Given the description of an element on the screen output the (x, y) to click on. 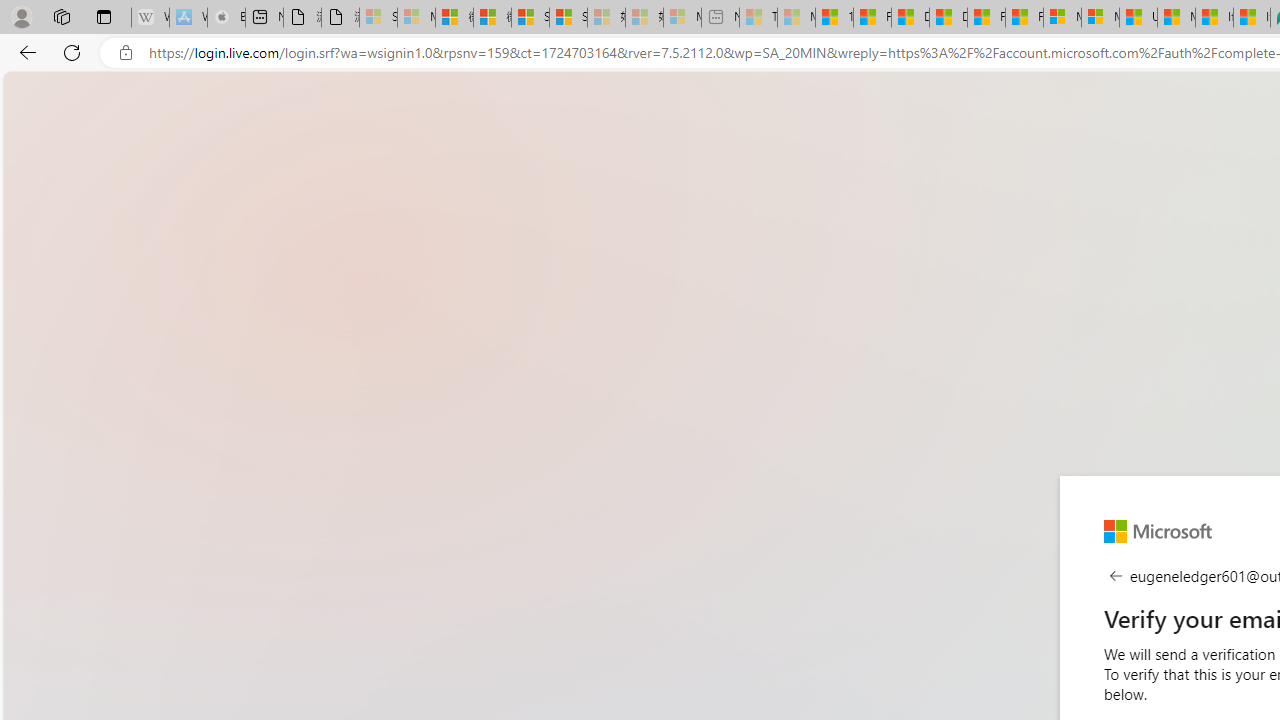
Buy iPad - Apple - Sleeping (225, 17)
Foo BAR | Trusted Community Engagement and Contributions (1024, 17)
Microsoft account | Account Checkup - Sleeping (682, 17)
